Given the description of an element on the screen output the (x, y) to click on. 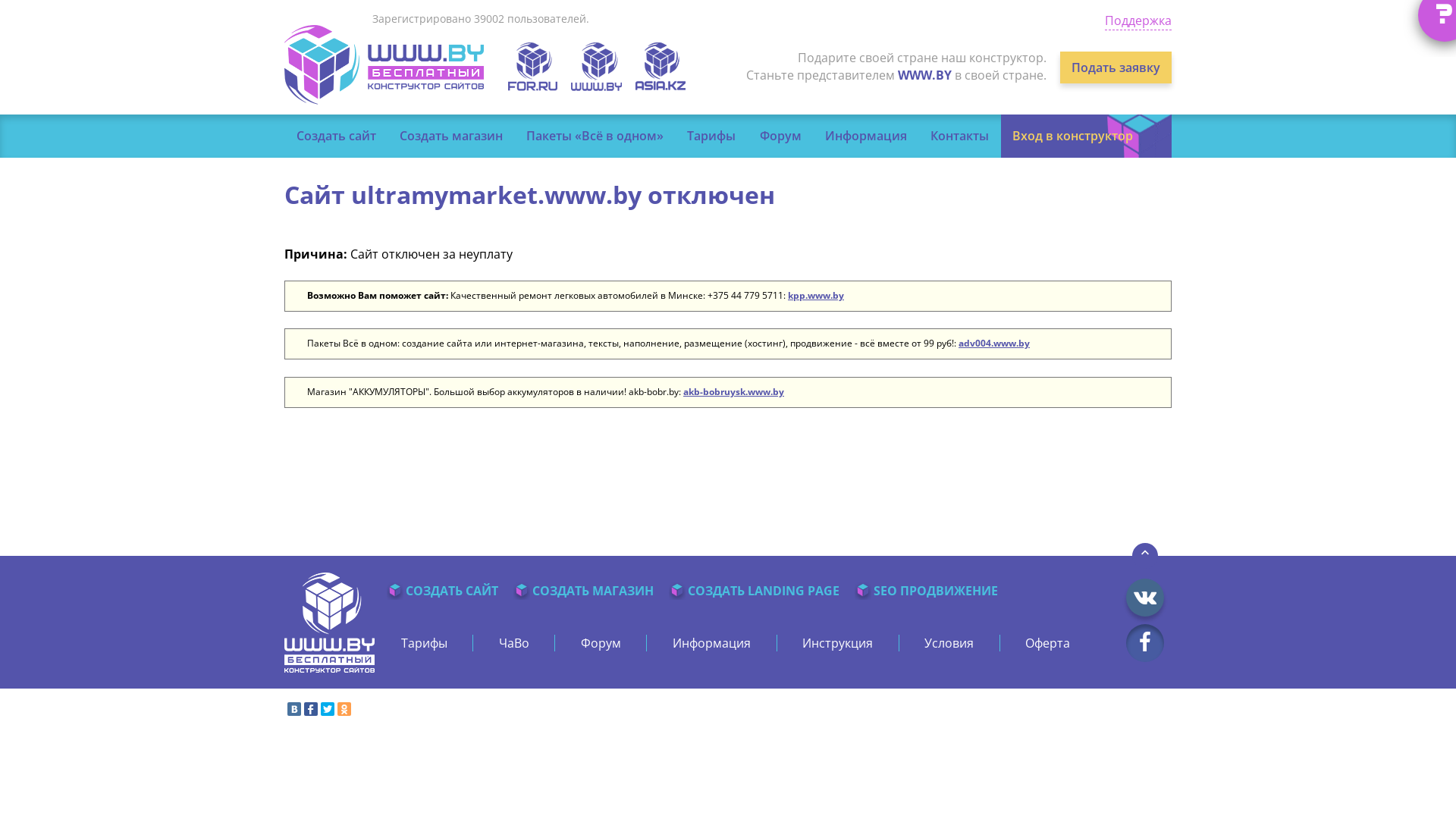
Facebook Element type: hover (310, 708)
kpp.www.by Element type: text (815, 294)
LiveInternet Element type: hover (1159, 711)
Twitter Element type: hover (327, 708)
akb-bobruysk.www.by Element type: text (733, 391)
adv004.www.by Element type: text (993, 342)
